Given the description of an element on the screen output the (x, y) to click on. 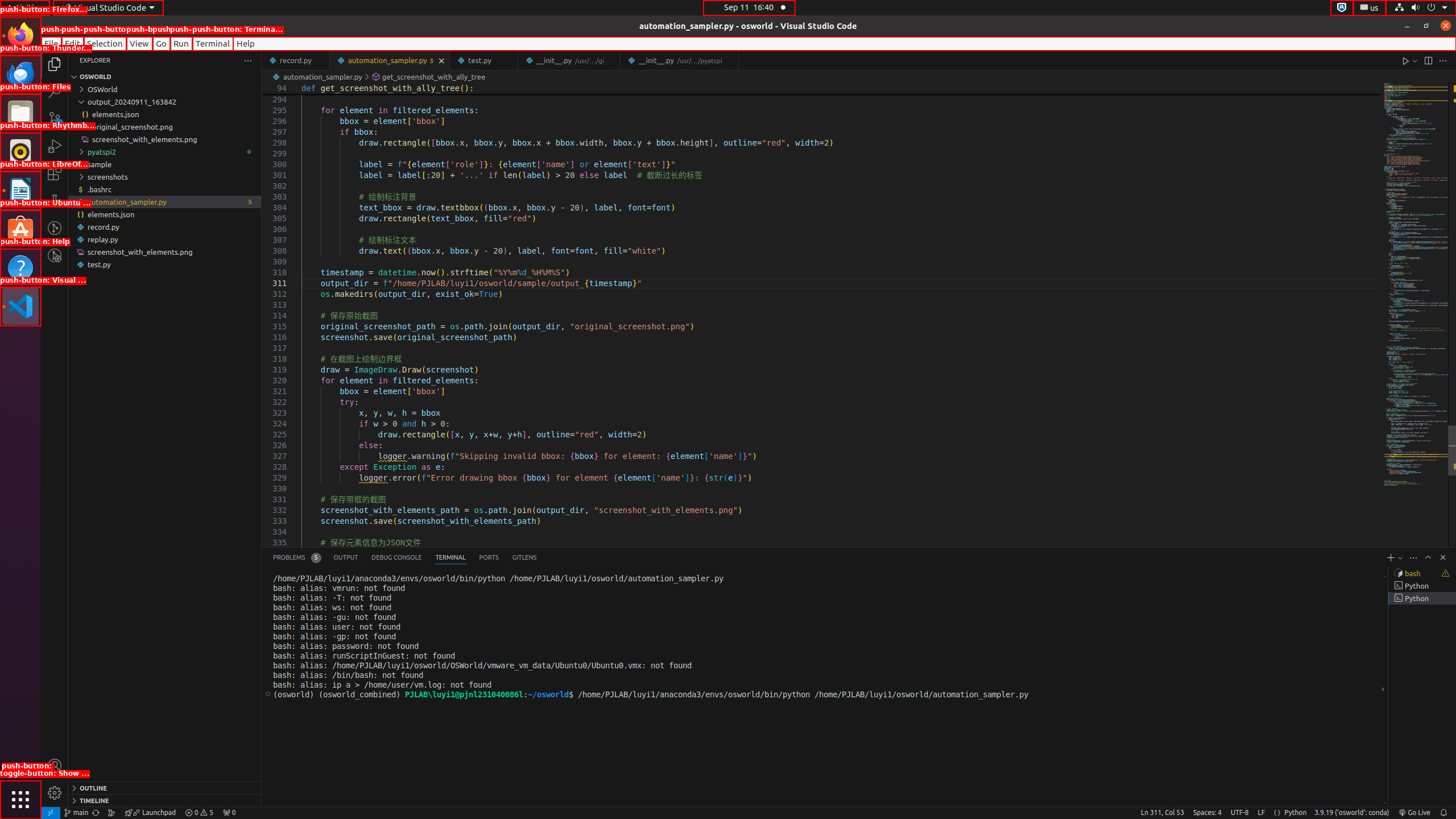
Selection Element type: push-button (104, 43)
View Element type: push-button (139, 43)
